Given the description of an element on the screen output the (x, y) to click on. 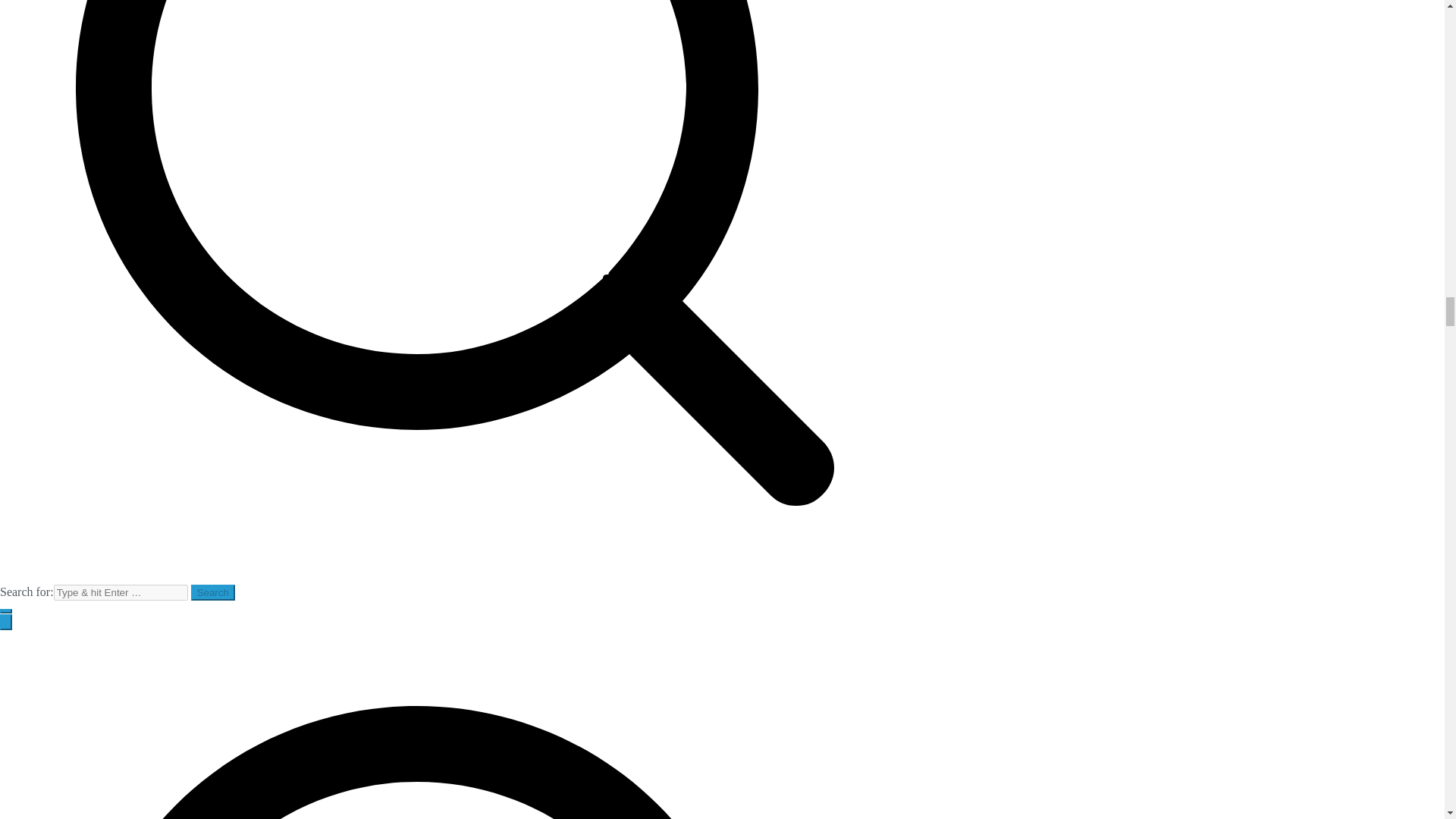
Search (212, 592)
Search for: (120, 592)
Search (212, 592)
